Given the description of an element on the screen output the (x, y) to click on. 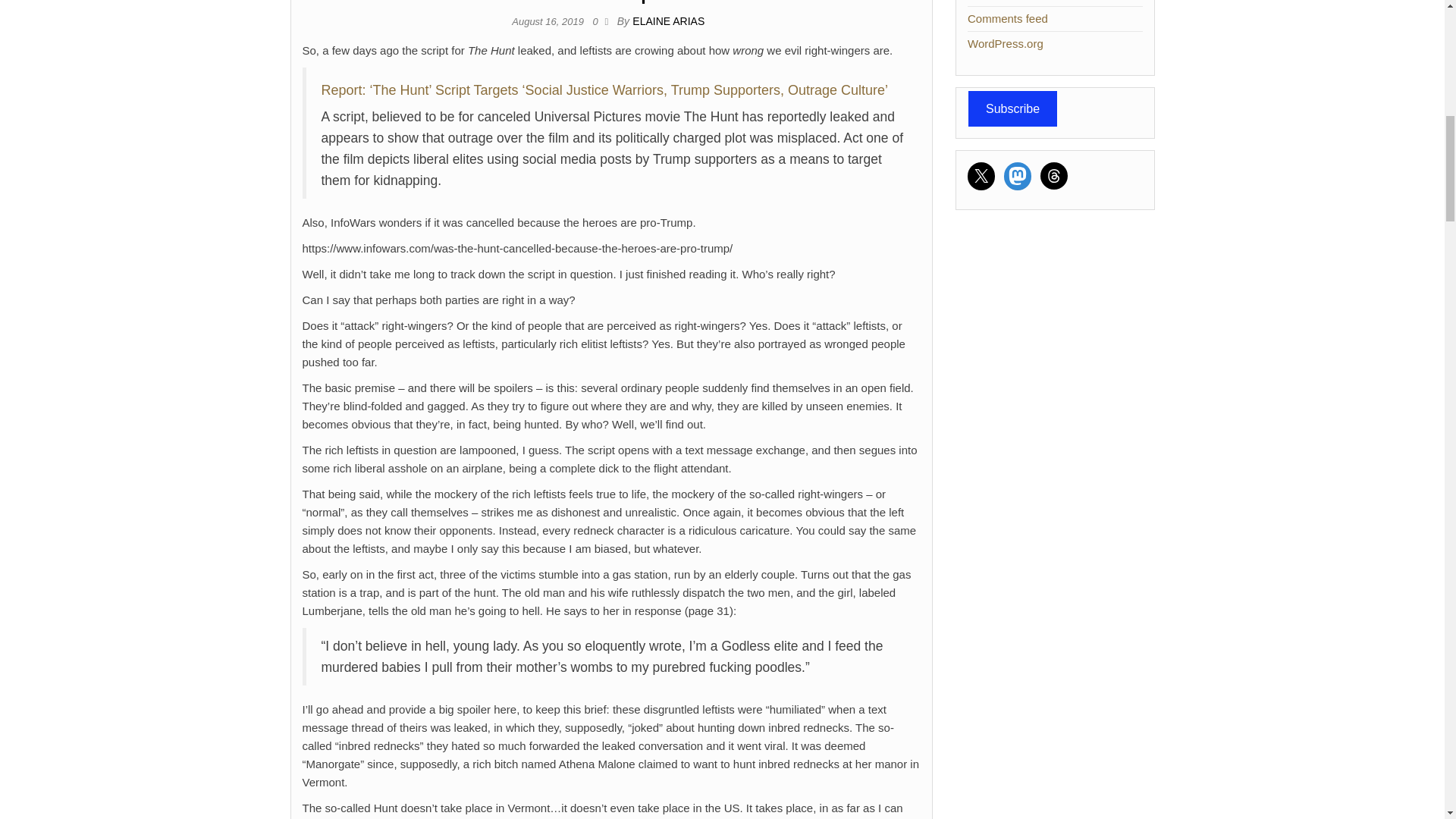
0 (598, 21)
WordPress.org (1005, 42)
X (981, 175)
Subscribe (1013, 108)
ELAINE ARIAS (667, 21)
Mastodon (1017, 175)
Threads (1054, 175)
Comments feed (1008, 18)
